Given the description of an element on the screen output the (x, y) to click on. 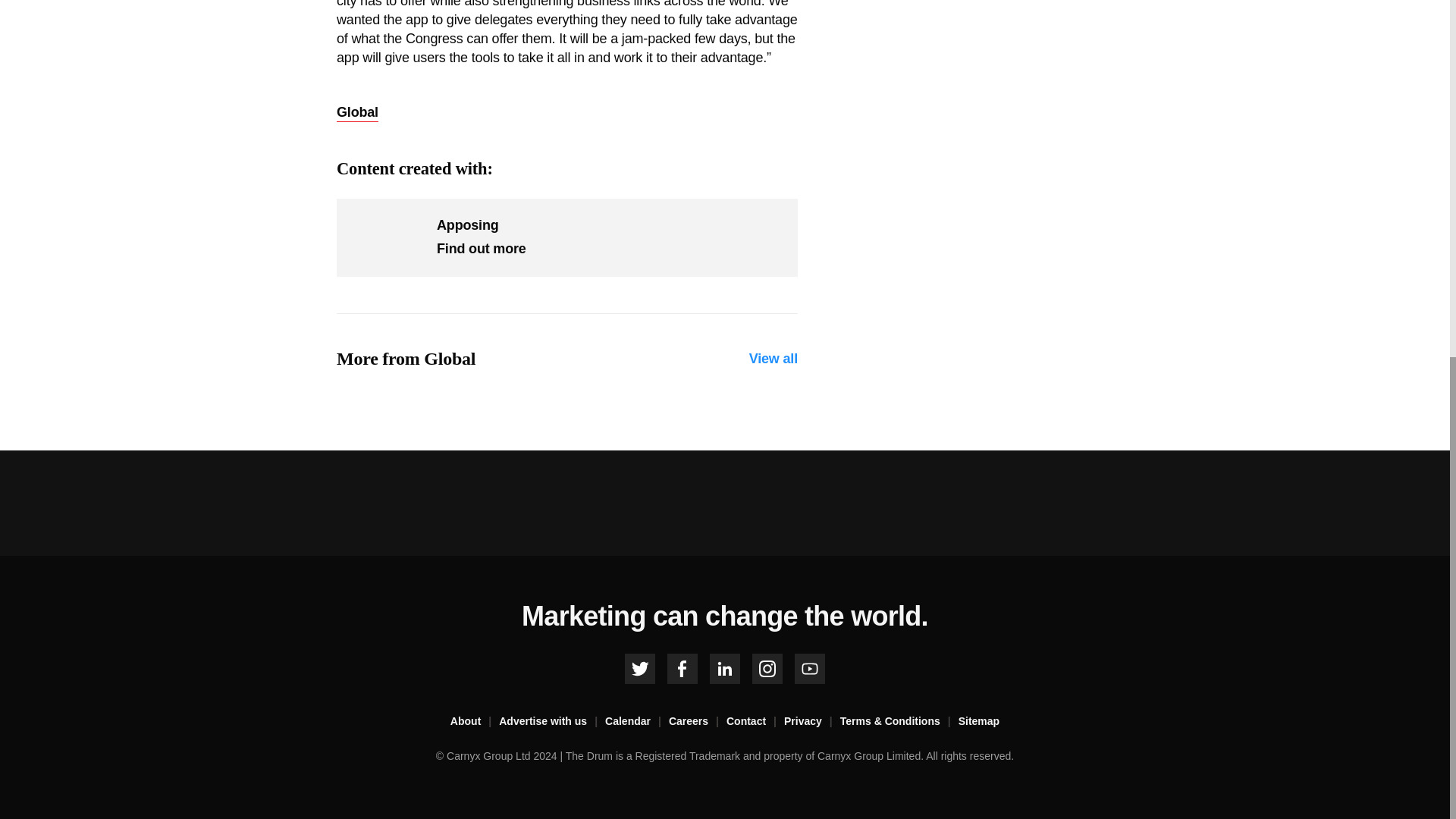
Careers (697, 721)
Global (357, 113)
Find out more (480, 248)
Sitemap (978, 721)
View all (773, 358)
Calendar (636, 721)
Privacy (812, 721)
Contact (755, 721)
About (474, 721)
Advertise with us (552, 721)
